Given the description of an element on the screen output the (x, y) to click on. 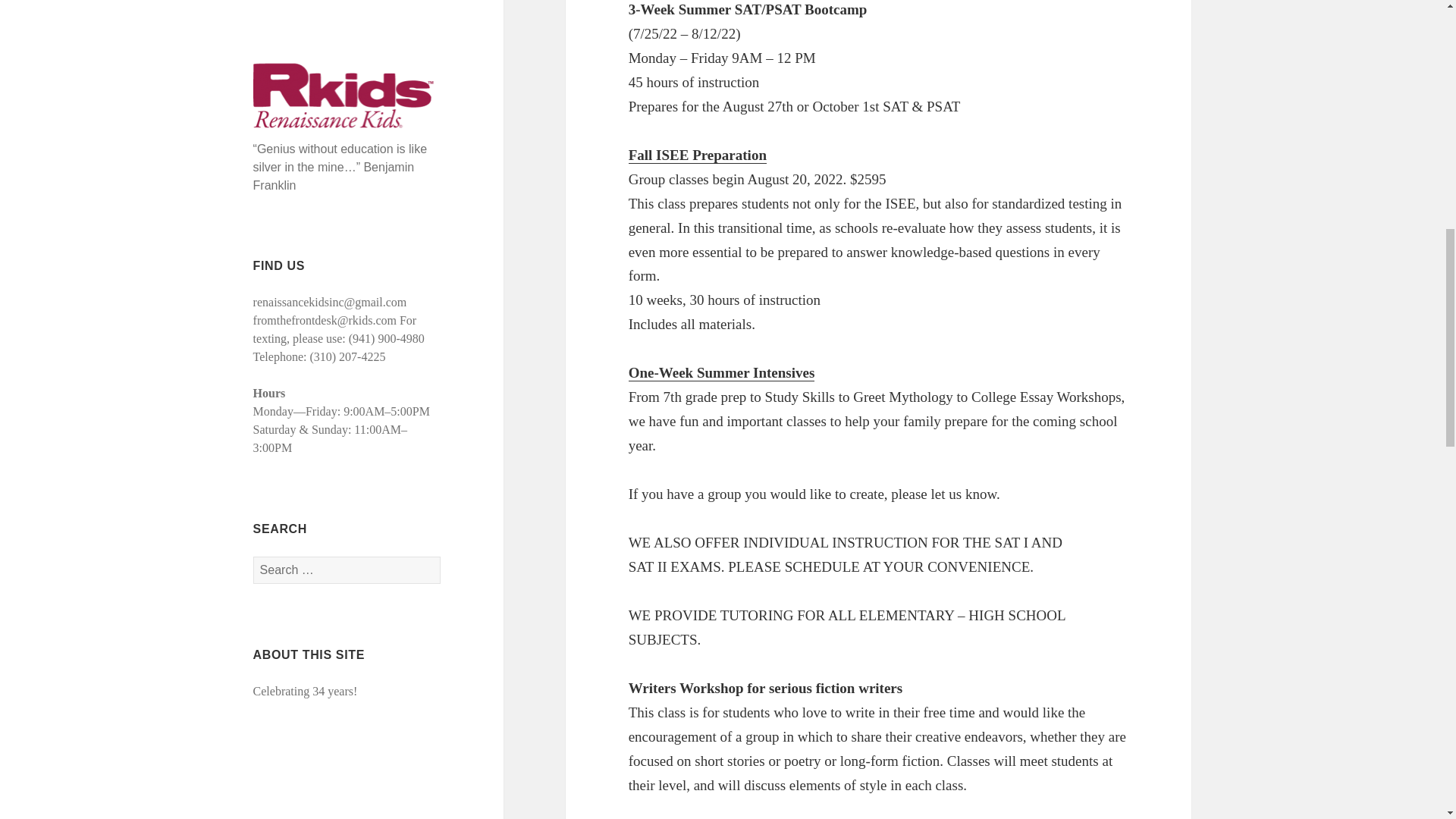
Fall ISEE Preparation (697, 155)
One-Week Summer Intensives (721, 372)
